Given the description of an element on the screen output the (x, y) to click on. 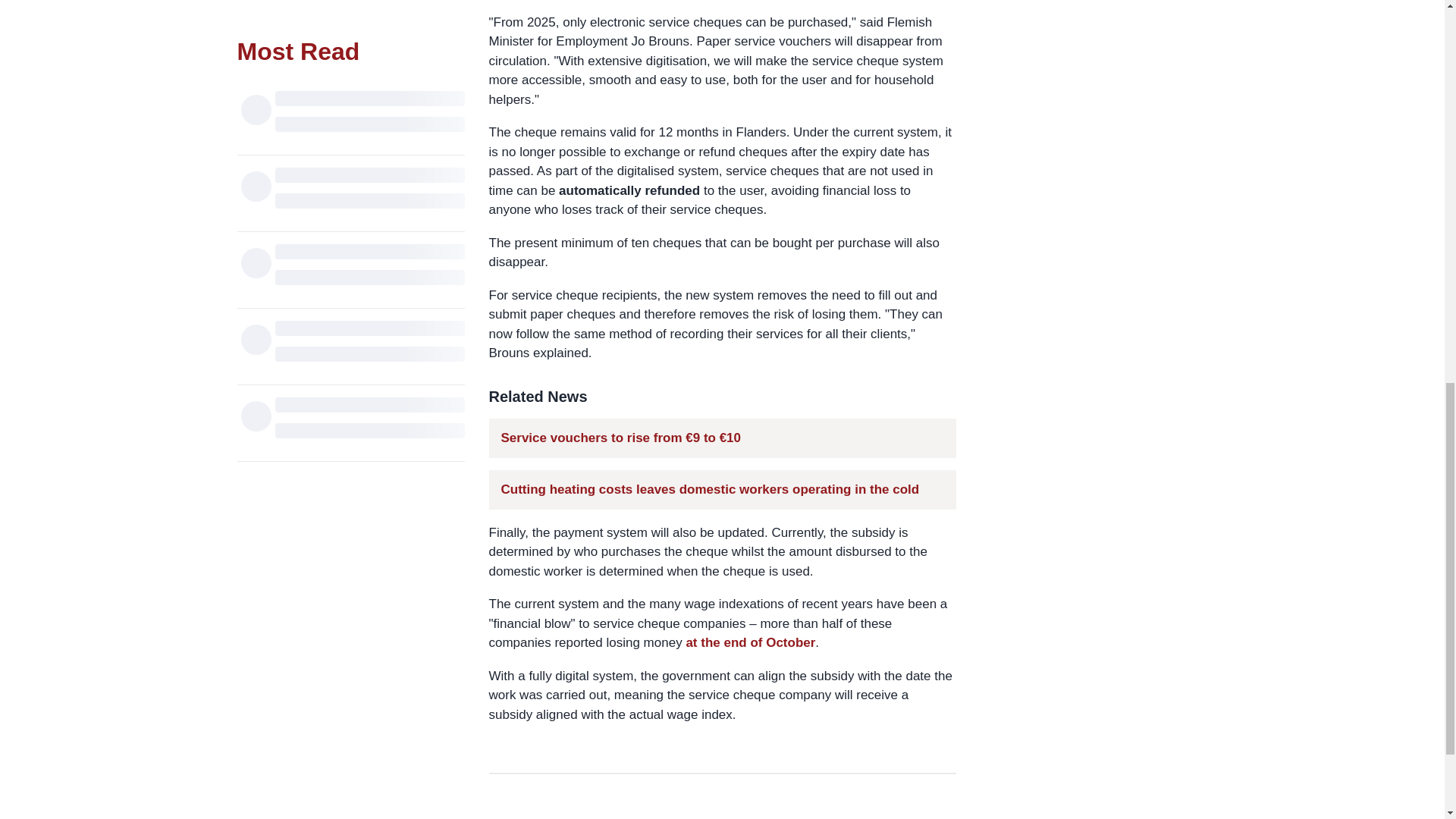
at the end of October (750, 642)
